Given the description of an element on the screen output the (x, y) to click on. 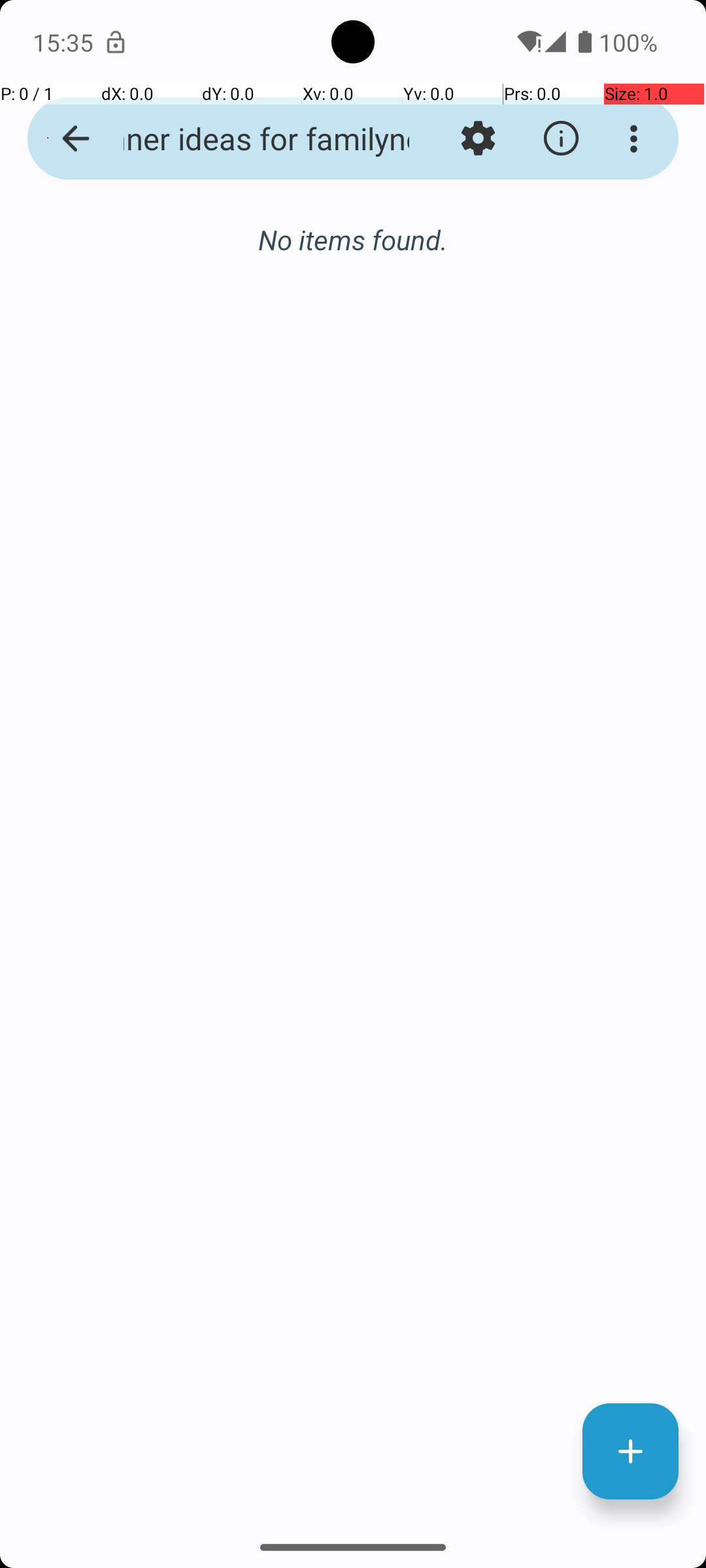
family dindinner ideas for familyner plans Element type: android.widget.EditText (252, 138)
